Given the description of an element on the screen output the (x, y) to click on. 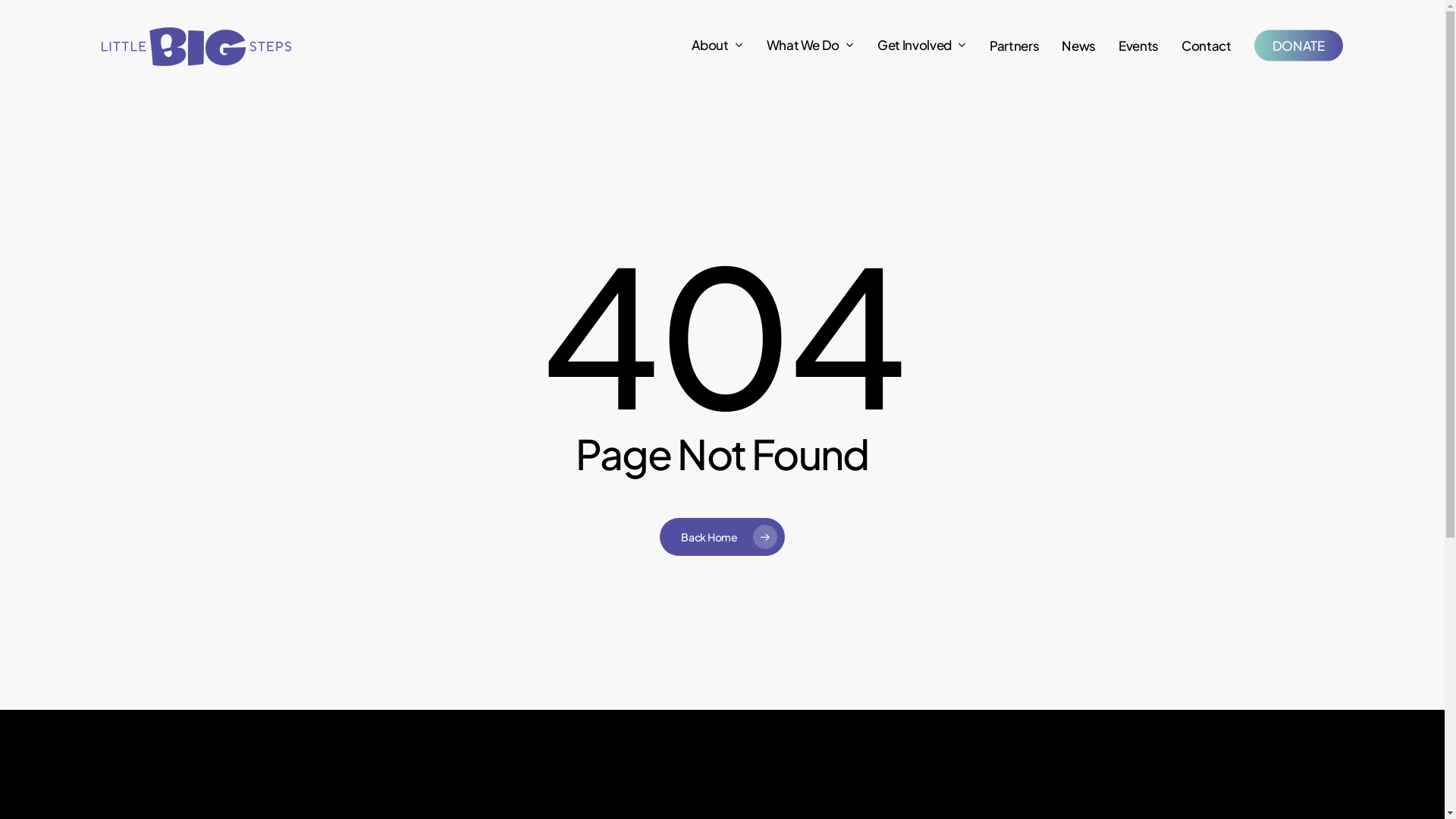
Contact Element type: text (1206, 45)
DONATE Element type: text (1298, 45)
Events Element type: text (1138, 45)
Get Involved Element type: text (921, 45)
Partners Element type: text (1013, 45)
What We Do Element type: text (810, 45)
Back Home Element type: text (721, 536)
About Element type: text (717, 45)
News Element type: text (1078, 45)
